Given the description of an element on the screen output the (x, y) to click on. 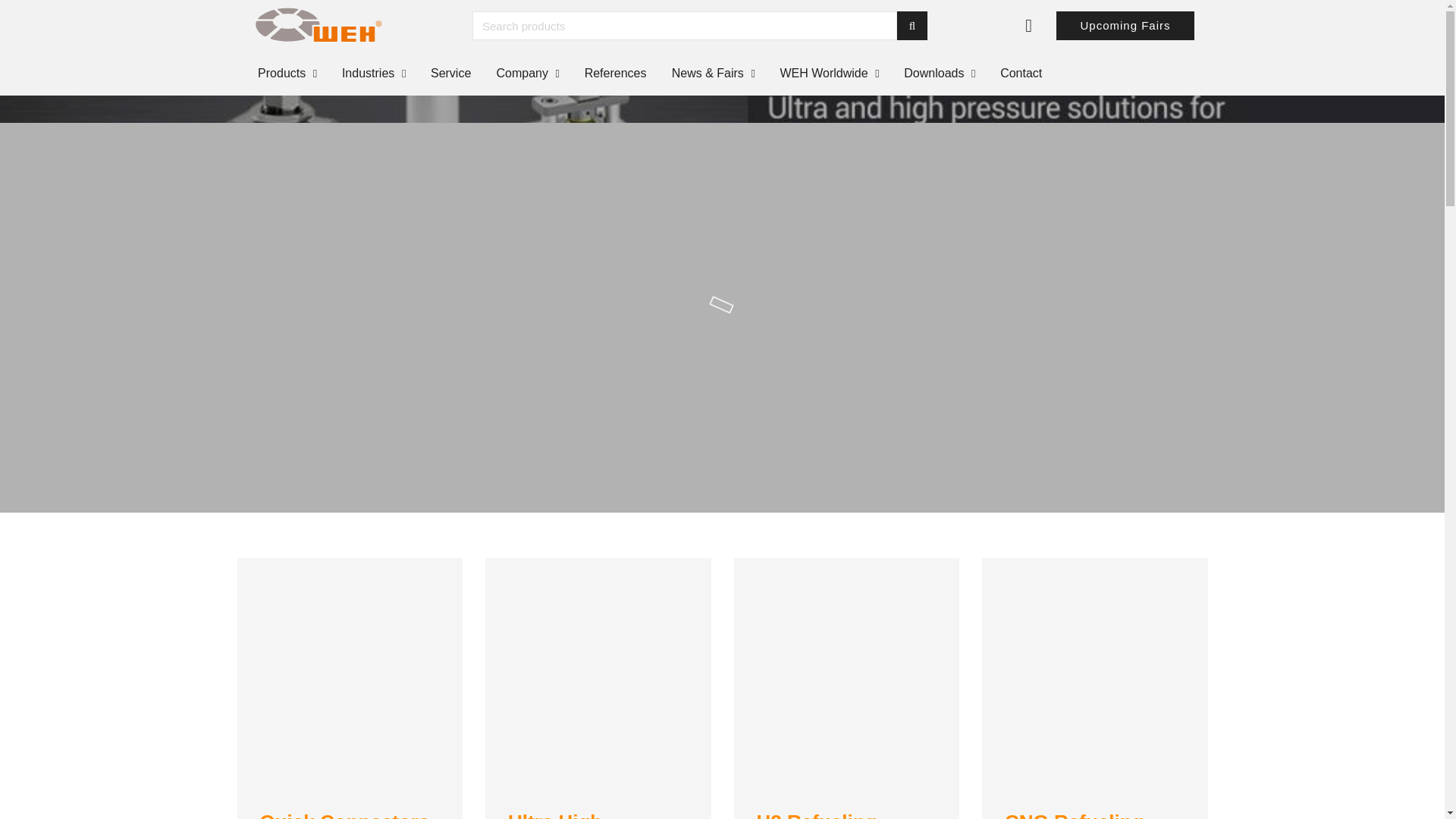
Upcoming Fairs (1125, 25)
Search (911, 25)
